Given the description of an element on the screen output the (x, y) to click on. 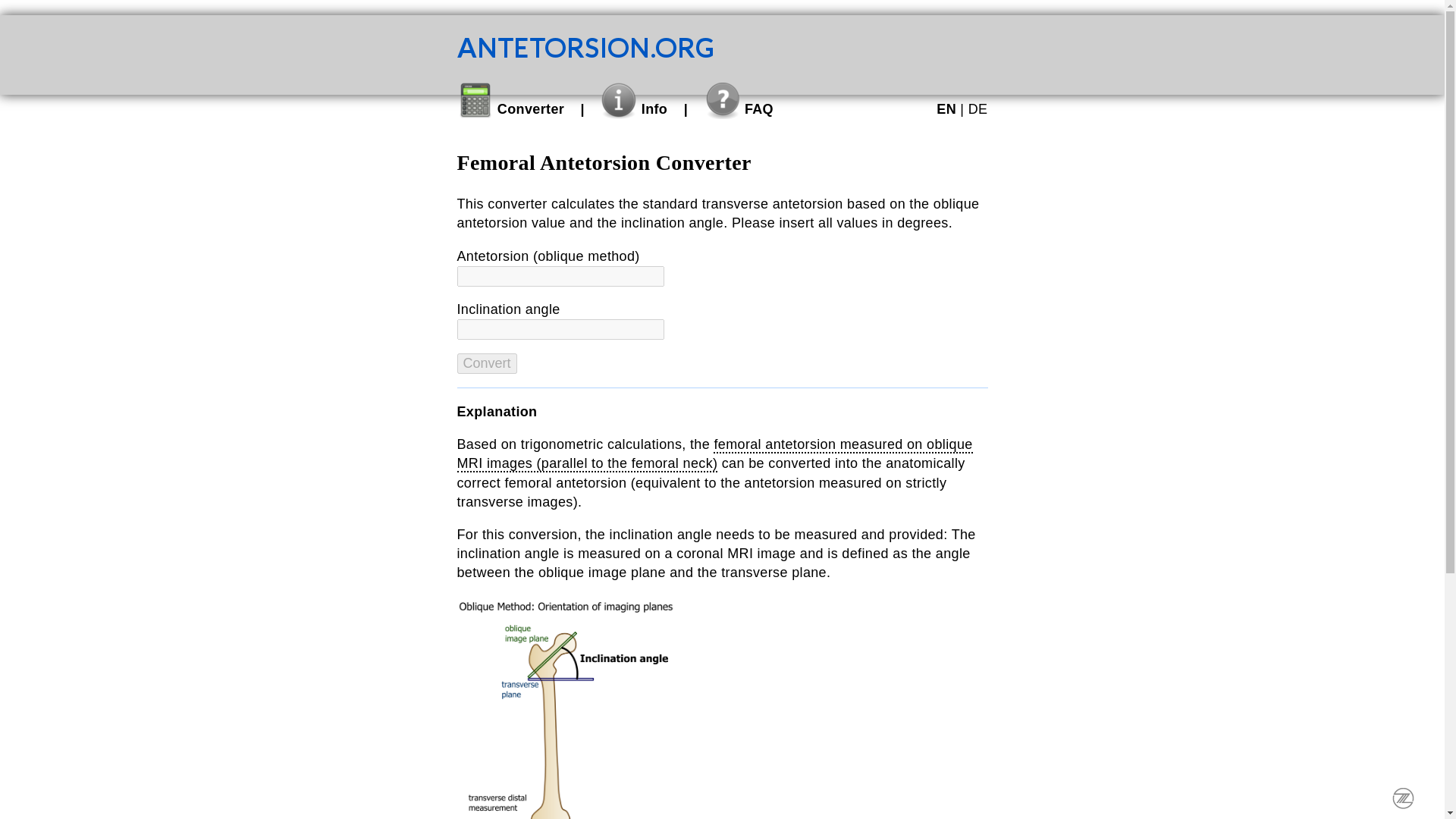
Deutsch (978, 109)
Info (632, 109)
mehrZeit - Medienkommunikation (1402, 798)
Info (632, 109)
FAQ (738, 109)
Convert (486, 362)
Converter (510, 109)
EN (946, 109)
FAQ (738, 109)
Converter (510, 109)
